Given the description of an element on the screen output the (x, y) to click on. 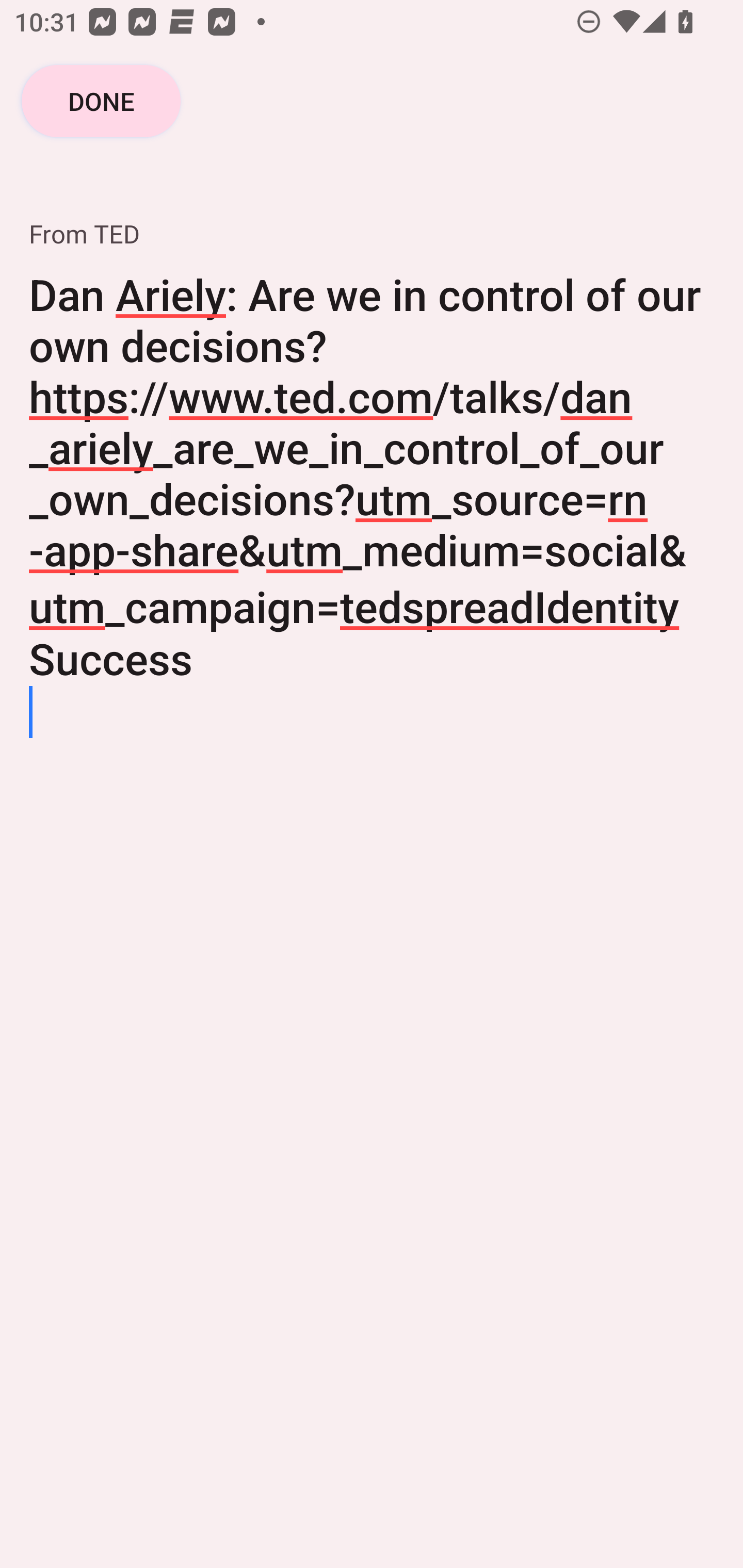
DONE (100, 101)
